Given the description of an element on the screen output the (x, y) to click on. 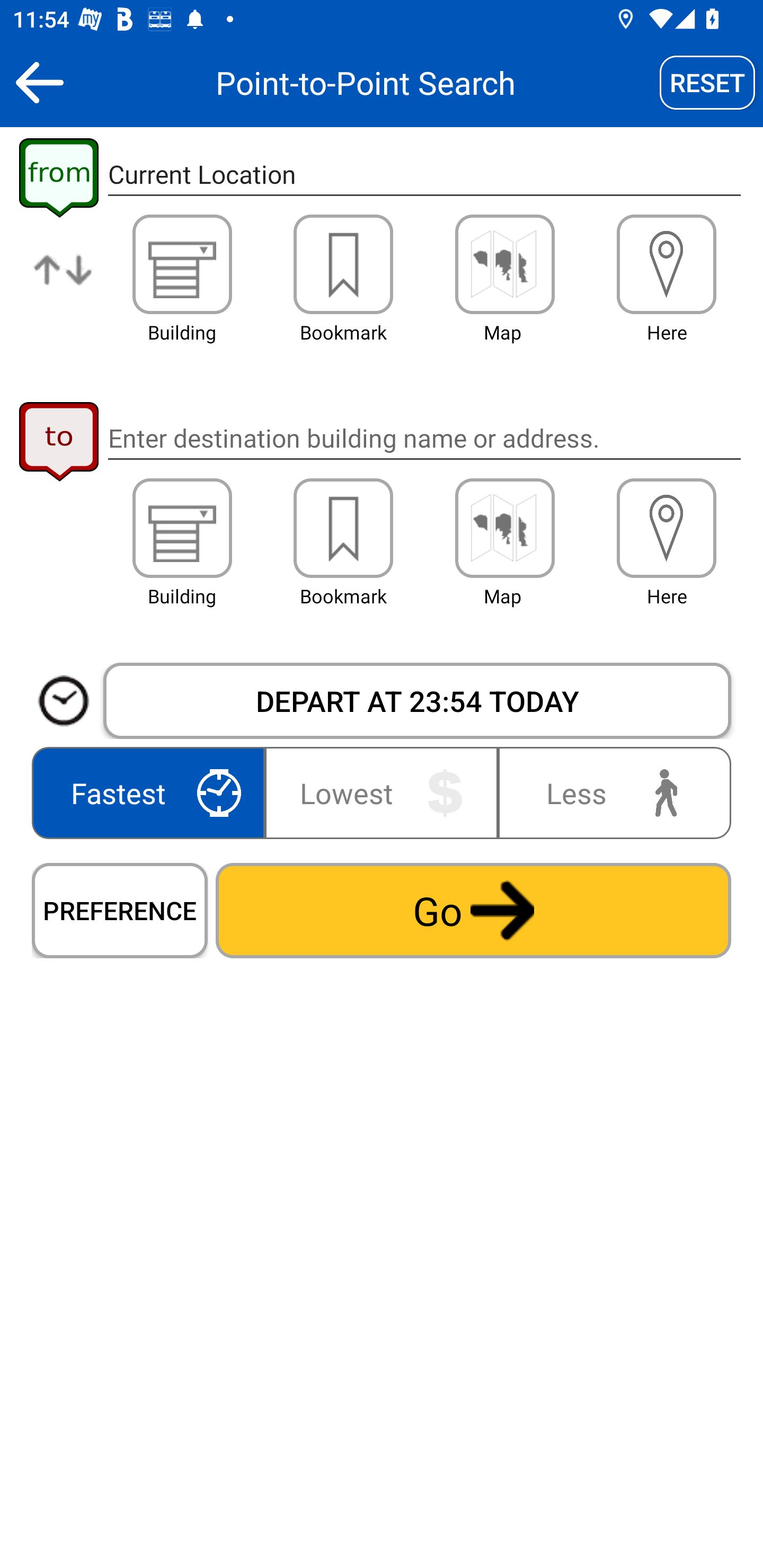
Back (39, 82)
RESET Reset (707, 81)
Current Location (423, 174)
Building (181, 263)
Bookmarks (342, 263)
Select location on map (504, 263)
Here (666, 263)
Swap origin and destination (63, 284)
Enter destination building name or address. (423, 437)
Building (181, 528)
Bookmarks (342, 528)
Select location on map (504, 528)
Here (666, 528)
Lowest (381, 792)
Fastest selected (151, 792)
Less (610, 792)
PREFERENCE Preference (119, 910)
Go (472, 910)
